Given the description of an element on the screen output the (x, y) to click on. 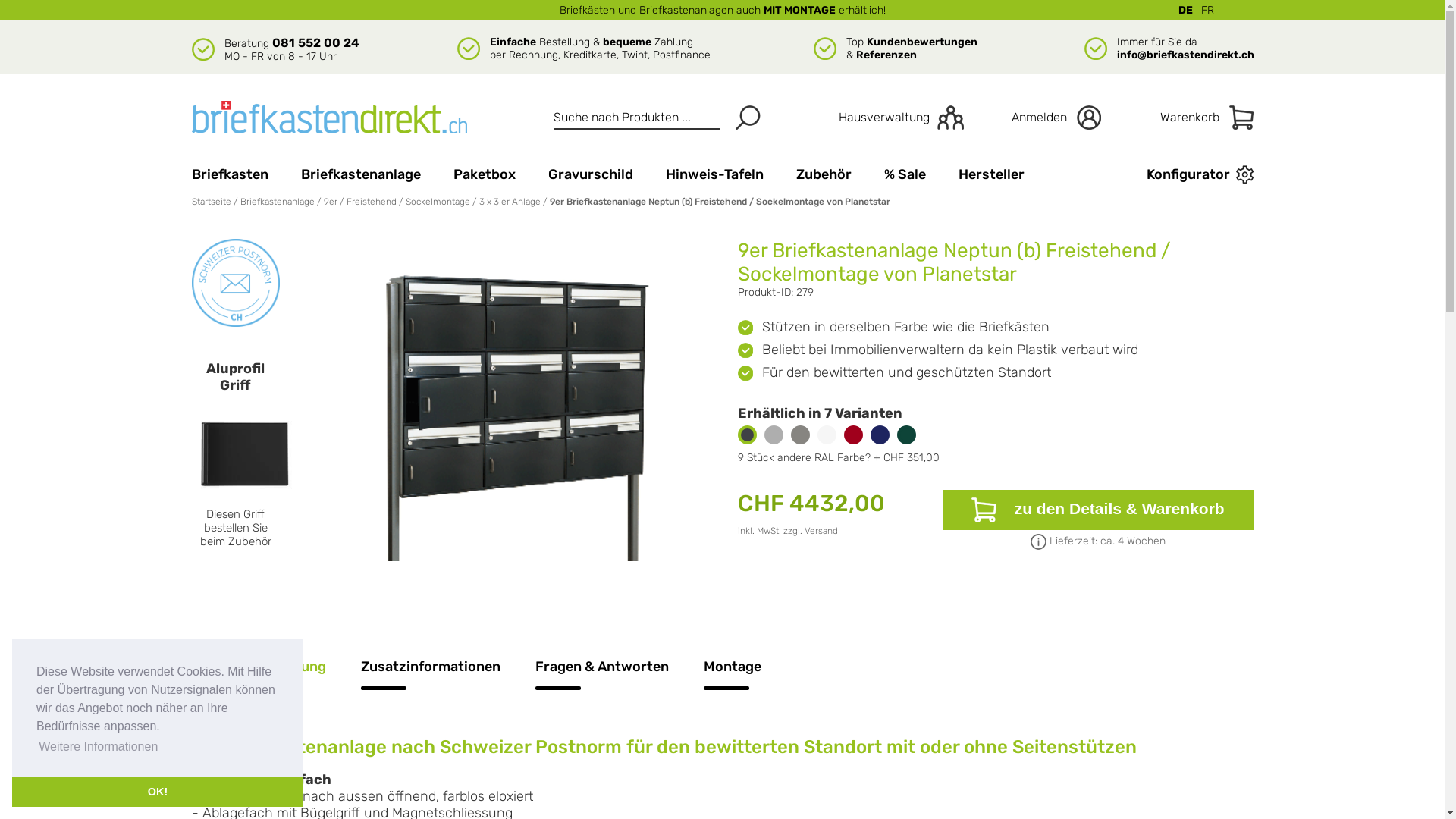
Freistehend / Sockelmontage Element type: text (407, 201)
FR Element type: text (1207, 9)
081 552 00 24 Element type: text (314, 42)
info@briefkastendirekt.ch Element type: text (1184, 54)
OK! Element type: text (157, 791)
Hausverwaltung Element type: text (883, 117)
   zu den Details & Warenkorb Element type: text (1098, 509)
Referenzen Element type: text (885, 54)
Briefkasten Element type: text (229, 174)
DE Element type: text (1185, 9)
Zusatzinformationen Element type: text (430, 680)
Paketbox Element type: text (484, 174)
Artikelbeschreibung Element type: text (258, 680)
Startseite Element type: text (210, 201)
Kundenbewertungen Element type: text (921, 41)
Anmelden Element type: text (1042, 117)
Briefkastenanlage Element type: text (360, 174)
Montage Element type: text (732, 680)
Hersteller Element type: text (991, 174)
Konfigurator Element type: text (1175, 174)
9er Element type: text (329, 201)
Weitere Informationen Element type: text (98, 746)
Hinweis-Tafeln Element type: text (714, 174)
Fragen & Antworten Element type: text (601, 680)
% Sale Element type: text (904, 174)
Briefkastenanlage Element type: text (276, 201)
Gravurschild Element type: text (589, 174)
3 x 3 er Anlage Element type: text (509, 201)
